Given the description of an element on the screen output the (x, y) to click on. 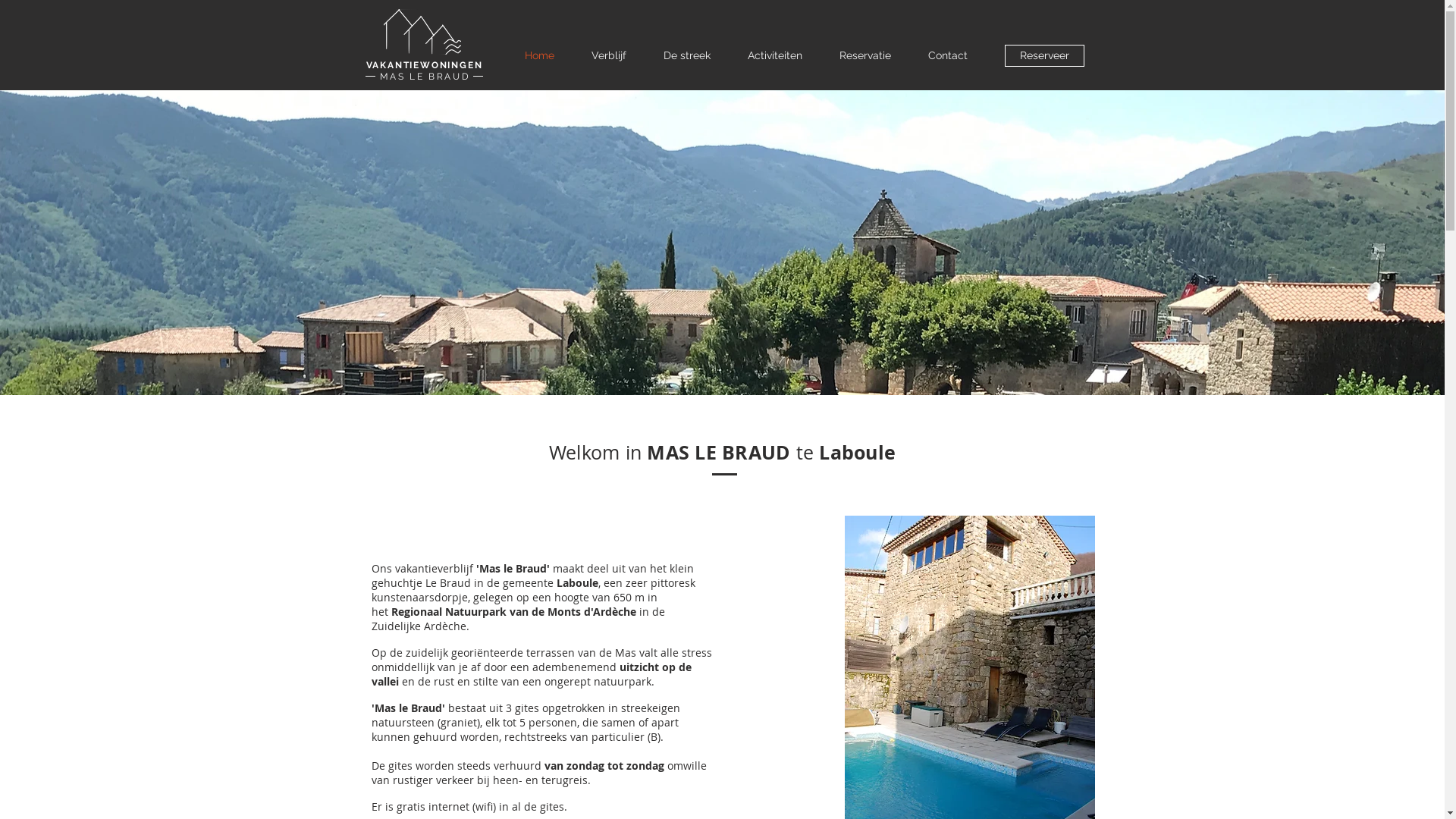
VAKANTIEWONINGEN Element type: text (424, 64)
MAS LE BRAUD Element type: text (424, 76)
Home Element type: text (539, 55)
Verblijf Element type: text (609, 55)
De streek Element type: text (686, 55)
Contact Element type: text (948, 55)
Reserveer Element type: text (1043, 55)
Activiteiten Element type: text (775, 55)
